Given the description of an element on the screen output the (x, y) to click on. 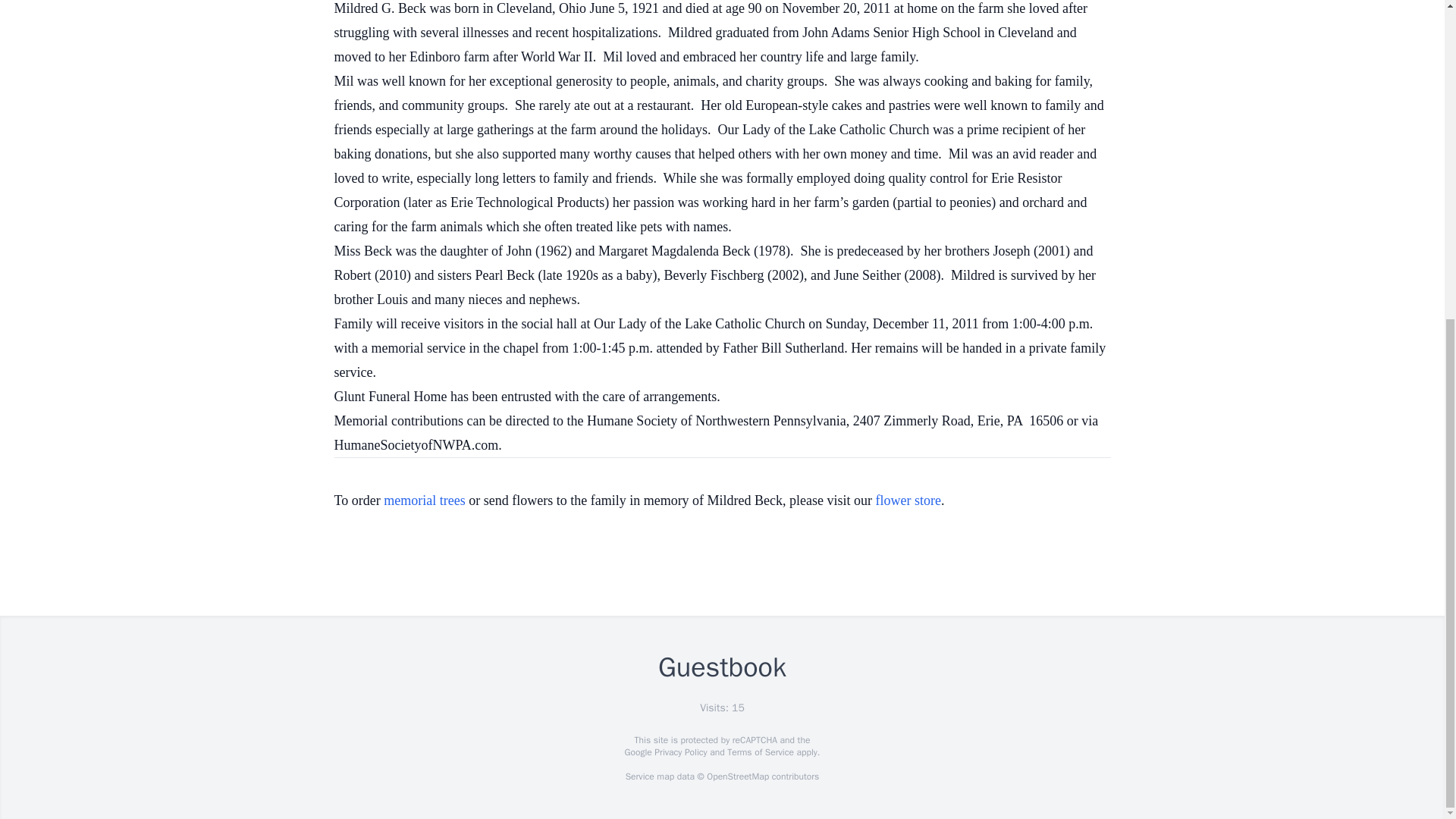
Terms of Service (759, 752)
Privacy Policy (679, 752)
flower store (908, 500)
memorial trees (424, 500)
OpenStreetMap (737, 776)
